Given the description of an element on the screen output the (x, y) to click on. 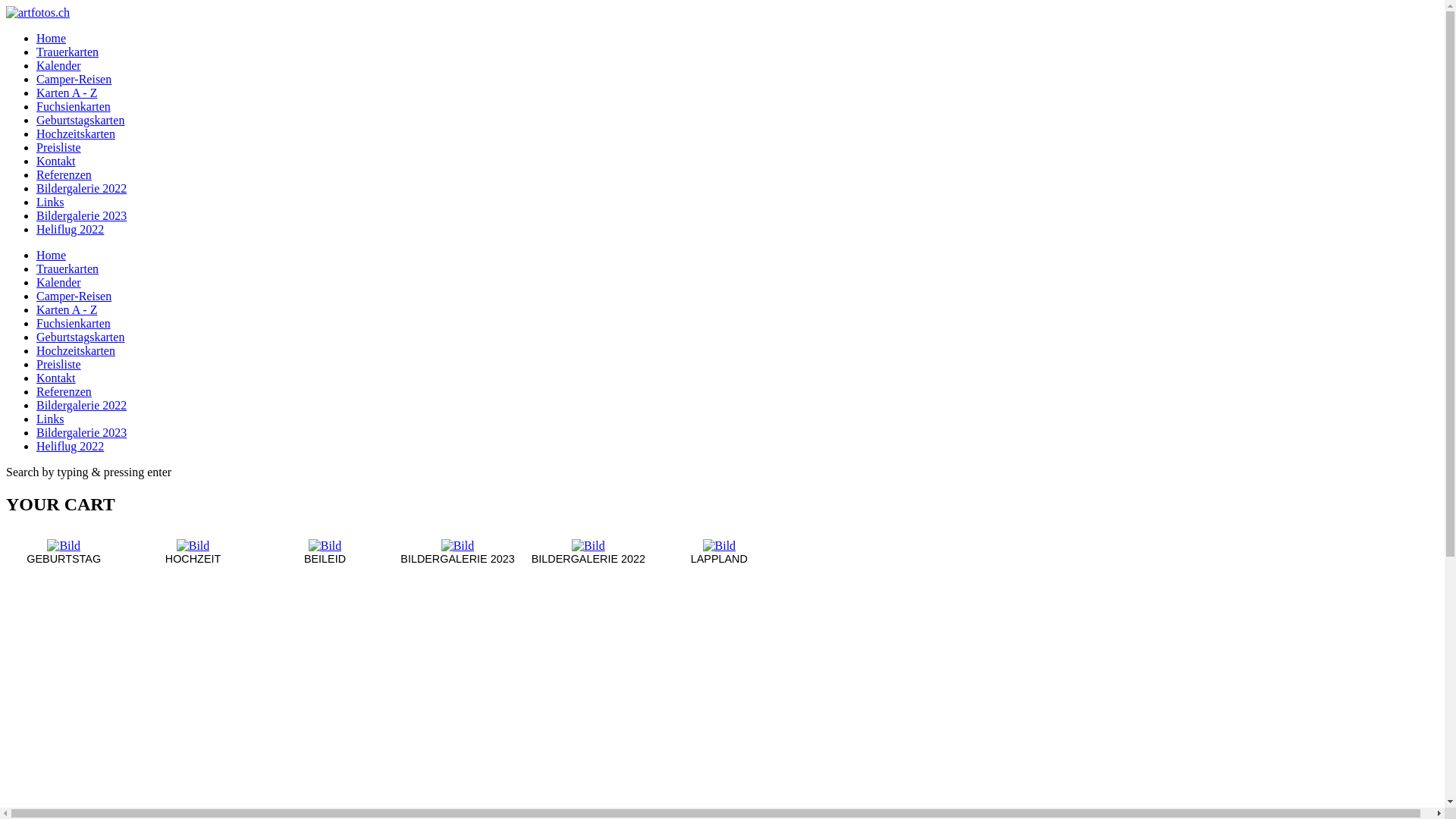
Preisliste Element type: text (58, 363)
Trauerkarten Element type: text (67, 51)
Trauerkarten Element type: text (67, 268)
Heliflug 2022 Element type: text (69, 228)
Kontakt Element type: text (55, 160)
Links Element type: text (49, 418)
Geburtstagskarten Element type: text (80, 119)
Heliflug 2022 Element type: text (69, 445)
Bildergalerie 2022 Element type: text (81, 404)
Kalender Element type: text (58, 282)
Home Element type: text (50, 254)
Kalender Element type: text (58, 65)
Bildergalerie 2022 Element type: text (81, 188)
Geburtstagskarten Element type: text (80, 336)
Camper-Reisen Element type: text (73, 78)
Bildergalerie 2023 Element type: text (81, 215)
Karten A - Z Element type: text (66, 92)
Referenzen Element type: text (63, 174)
Bildergalerie 2023 Element type: text (81, 432)
Fuchsienkarten Element type: text (73, 106)
Links Element type: text (49, 201)
Hochzeitskarten Element type: text (75, 133)
Camper-Reisen Element type: text (73, 295)
Preisliste Element type: text (58, 147)
Home Element type: text (50, 37)
Kontakt Element type: text (55, 377)
Karten A - Z Element type: text (66, 309)
Hochzeitskarten Element type: text (75, 350)
Referenzen Element type: text (63, 391)
Fuchsienkarten Element type: text (73, 322)
